Given the description of an element on the screen output the (x, y) to click on. 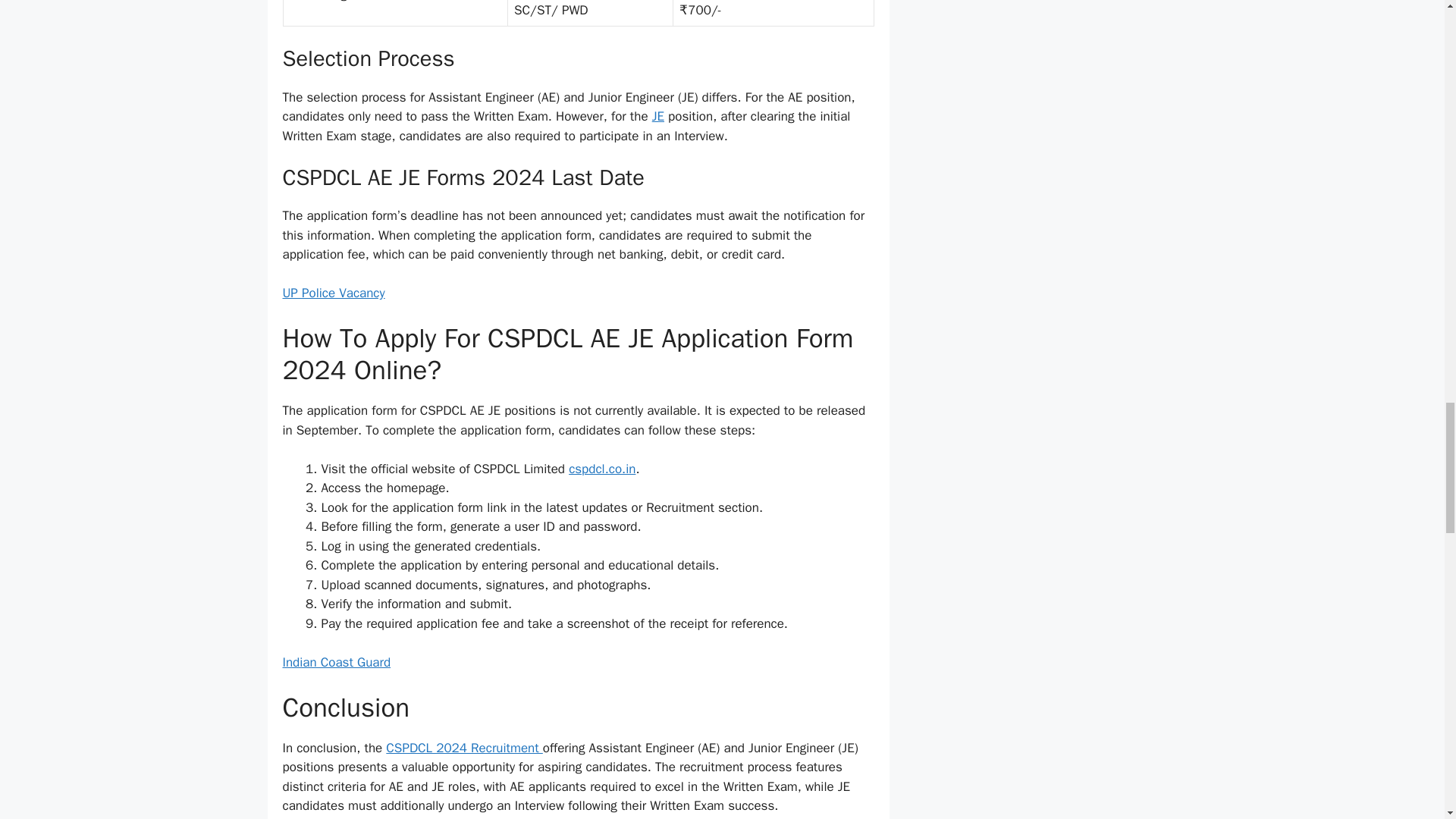
Indian Coast Guard (336, 662)
CSPDCL 2024 Recruitment (463, 747)
cspdcl.co.in (601, 468)
UP Police Vacancy (333, 293)
